Given the description of an element on the screen output the (x, y) to click on. 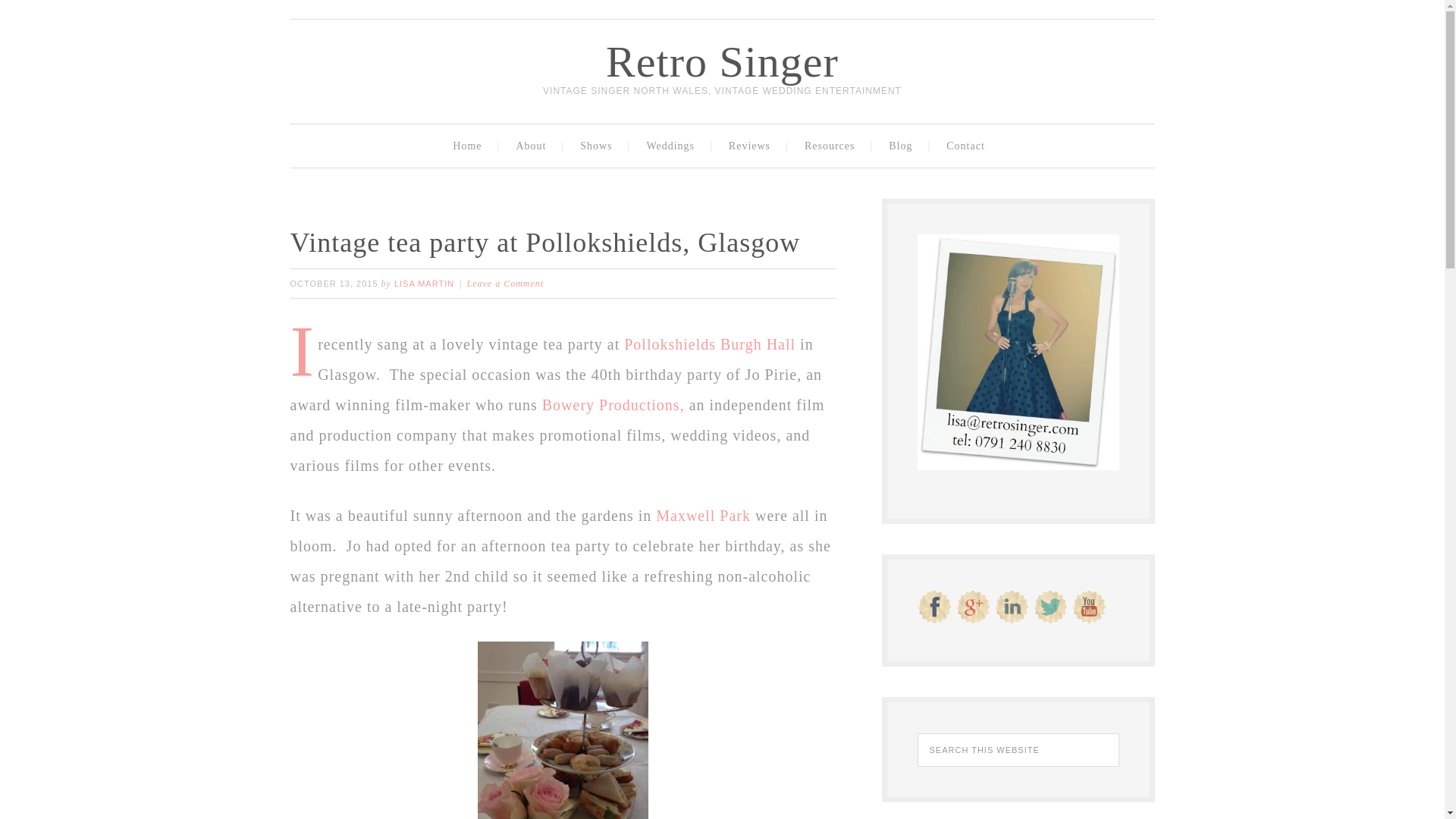
Weddings (672, 145)
Maxwell Park (705, 515)
Home (470, 145)
Blog (903, 145)
Pollokshields Burgh Hall (711, 343)
Shows (599, 145)
Contact (968, 145)
Retro Singer (721, 61)
